Given the description of an element on the screen output the (x, y) to click on. 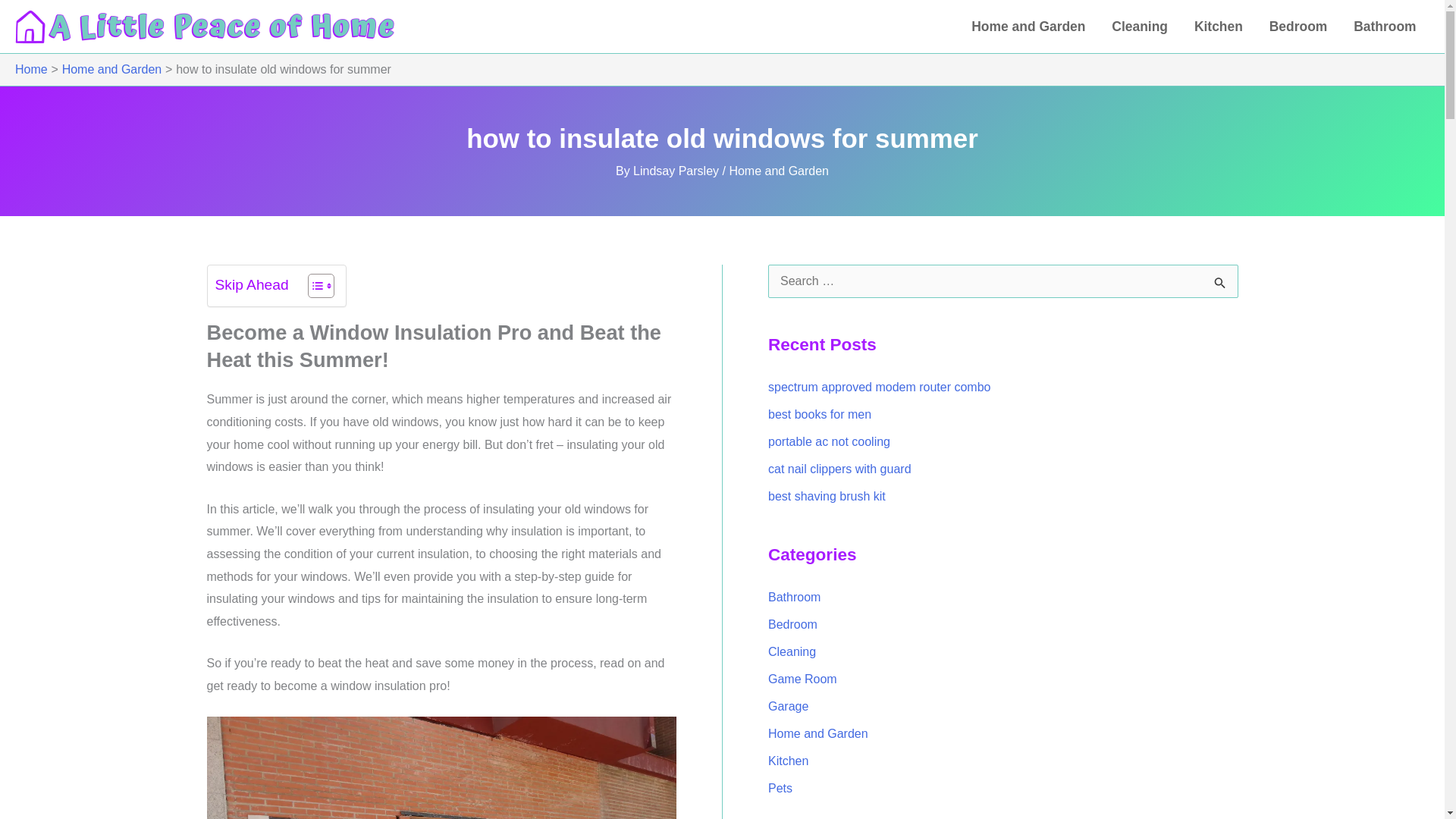
Bathroom (1384, 26)
Search (1221, 285)
Home (31, 69)
Home and Garden (111, 69)
Home and Garden (1028, 26)
Kitchen (1217, 26)
Lindsay Parsley (677, 170)
how to insulate old windows for summer (441, 767)
Home and Garden (778, 170)
View all posts by Lindsay Parsley (677, 170)
Cleaning (1139, 26)
Bedroom (1297, 26)
Search (1221, 285)
